Given the description of an element on the screen output the (x, y) to click on. 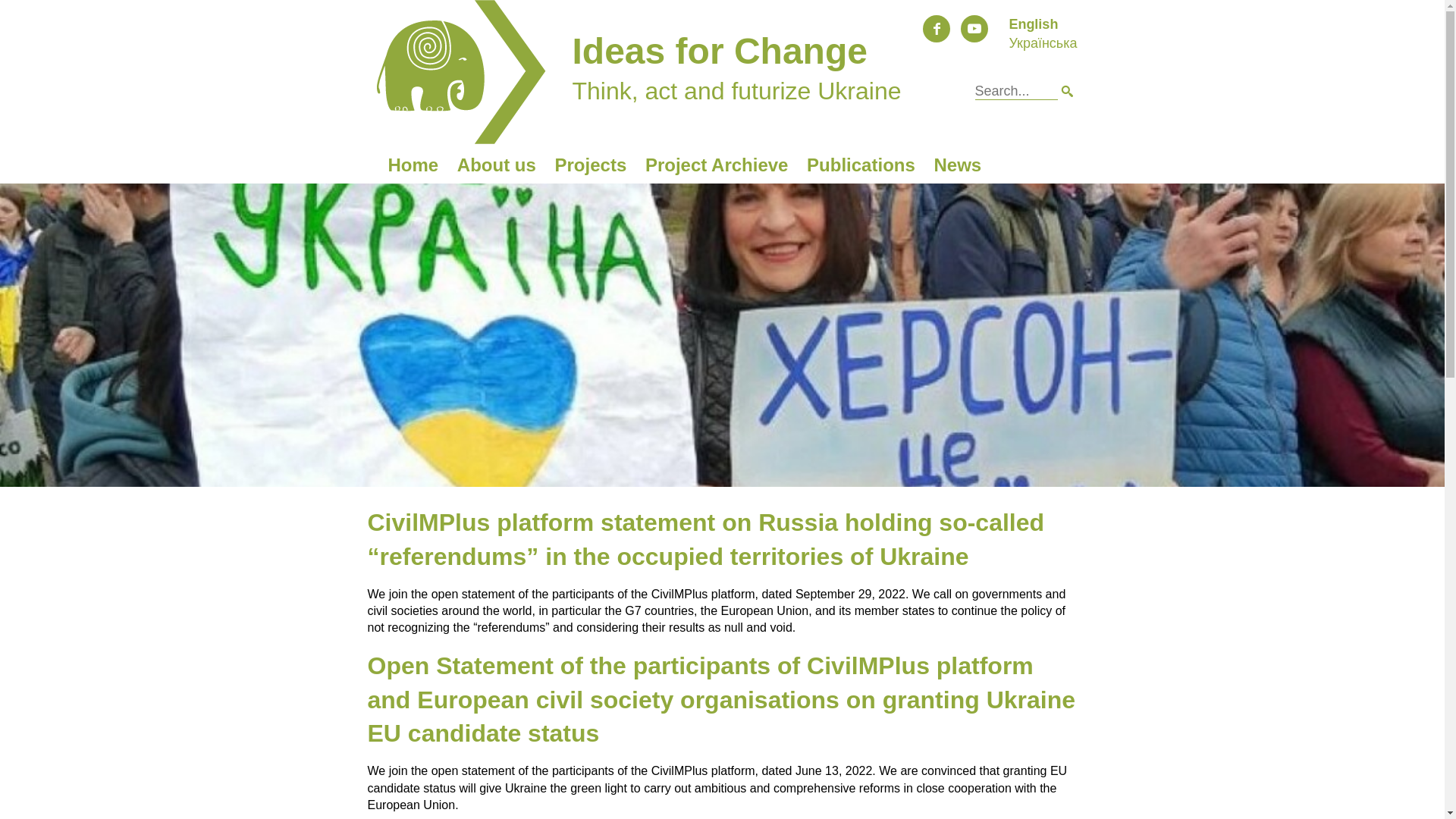
News (957, 164)
Projects (590, 164)
English (1033, 23)
Facebook (936, 28)
About us (496, 164)
Publications (860, 164)
English (1033, 23)
Youtube (974, 28)
Project Archieve (717, 164)
Home (413, 164)
